Given the description of an element on the screen output the (x, y) to click on. 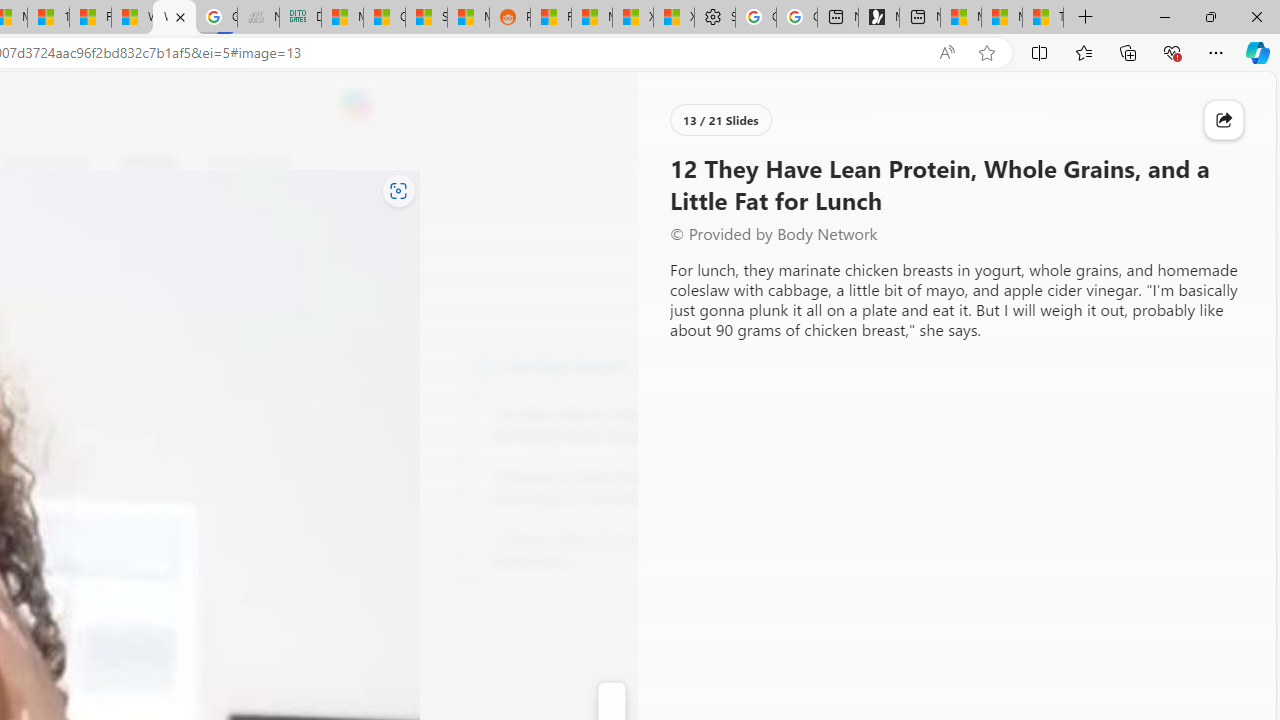
12 Proven Ways To Increase Your Metabolism (603, 550)
Body Network (486, 364)
Food & Drink (240, 162)
Food & Drink (249, 162)
